Given the description of an element on the screen output the (x, y) to click on. 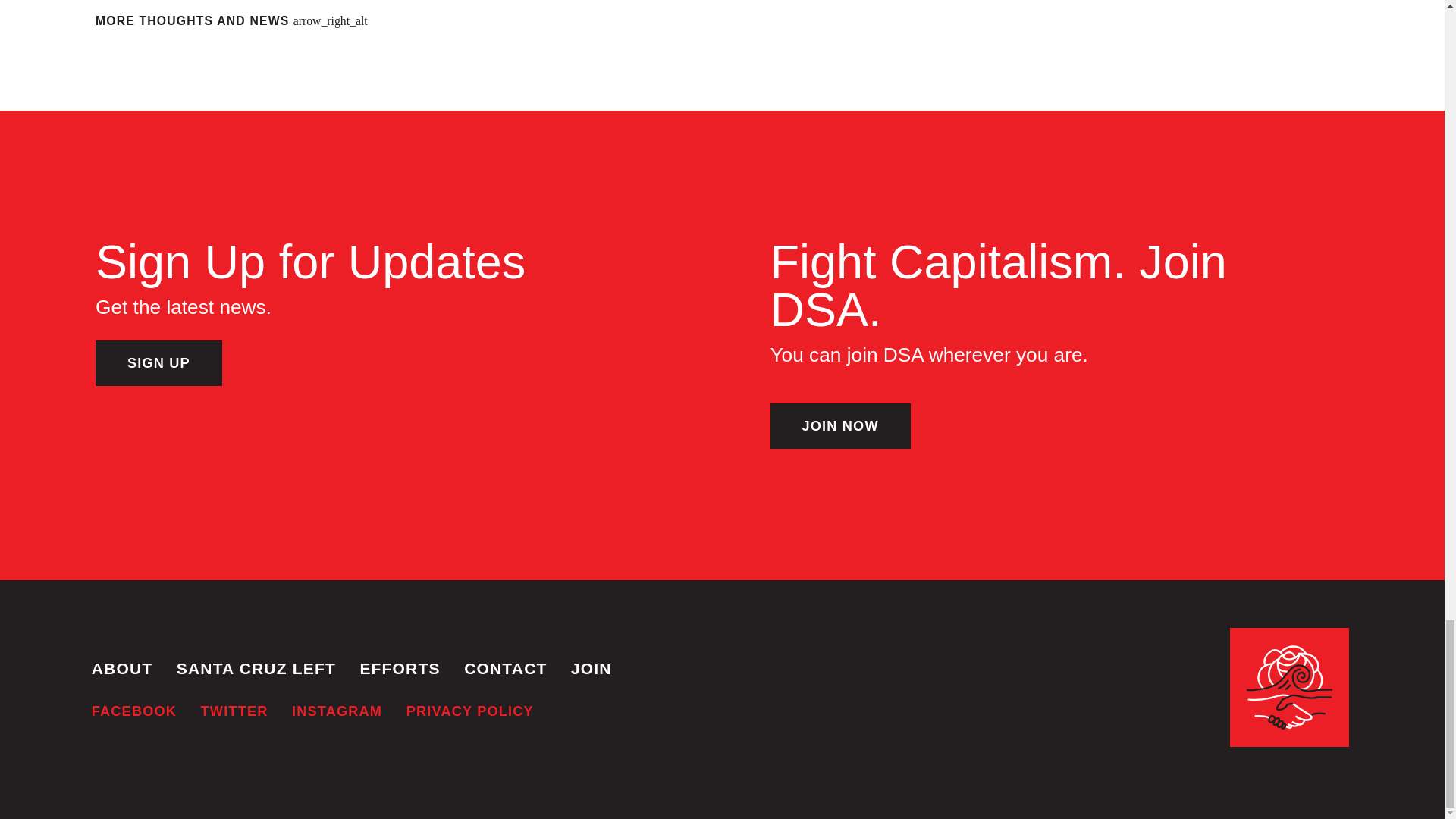
TWITTER (233, 711)
SIGN UP (159, 362)
ABOUT (121, 668)
SANTA CRUZ LEFT (256, 668)
PRIVACY POLICY (470, 711)
EFFORTS (399, 668)
CONTACT (505, 668)
JOIN (590, 668)
INSTAGRAM (336, 711)
FACEBOOK (133, 711)
JOIN NOW (840, 425)
